Given the description of an element on the screen output the (x, y) to click on. 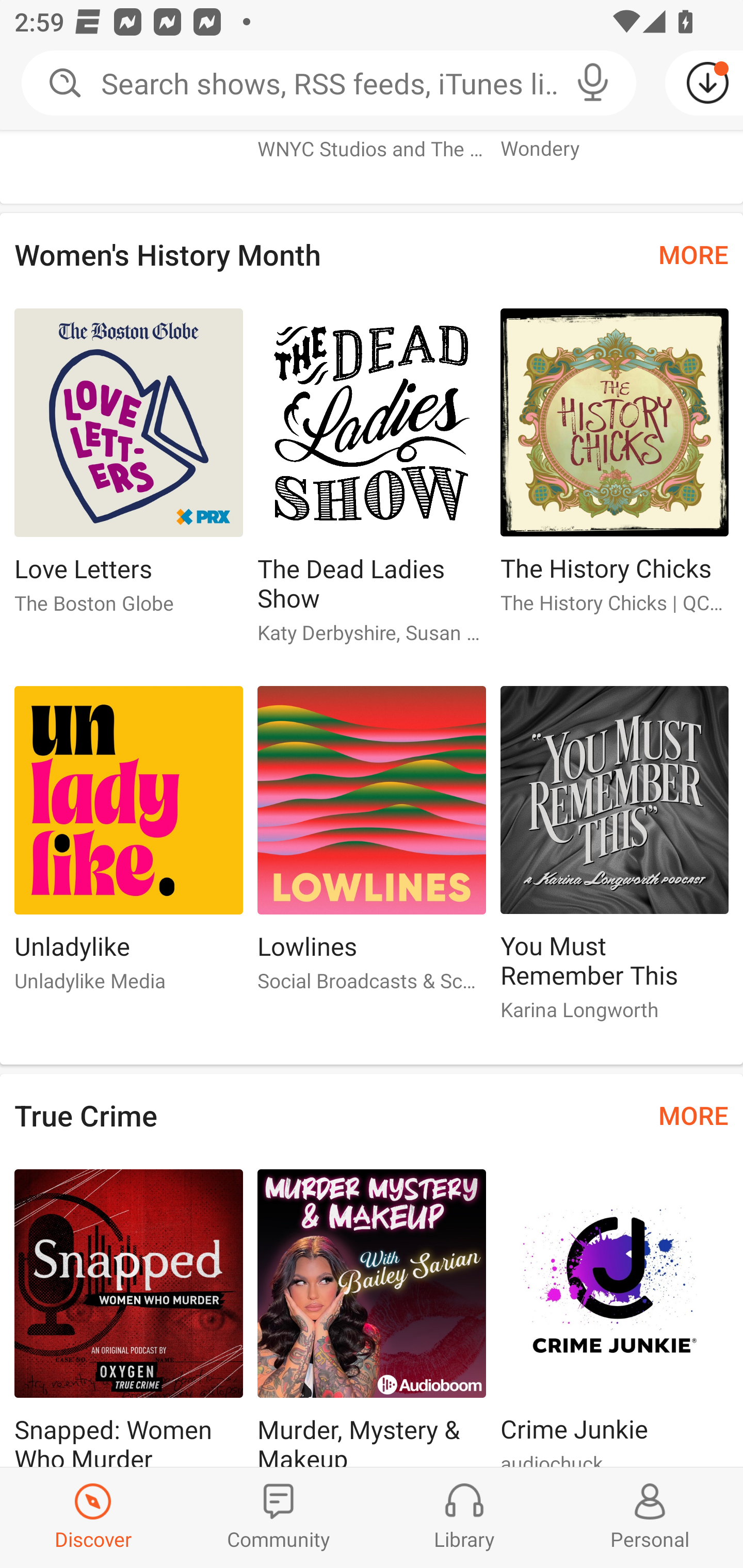
MORE (693, 253)
Love Letters Love Letters The Boston Globe (128, 469)
Unladylike Unladylike Unladylike Media (128, 847)
MORE (693, 1114)
Snapped: Women Who Murder (128, 1318)
Murder, Mystery & Makeup (371, 1318)
Crime Junkie Crime Junkie audiochuck (614, 1318)
Discover (92, 1517)
Community (278, 1517)
Library (464, 1517)
Profiles and Settings Personal (650, 1517)
